Given the description of an element on the screen output the (x, y) to click on. 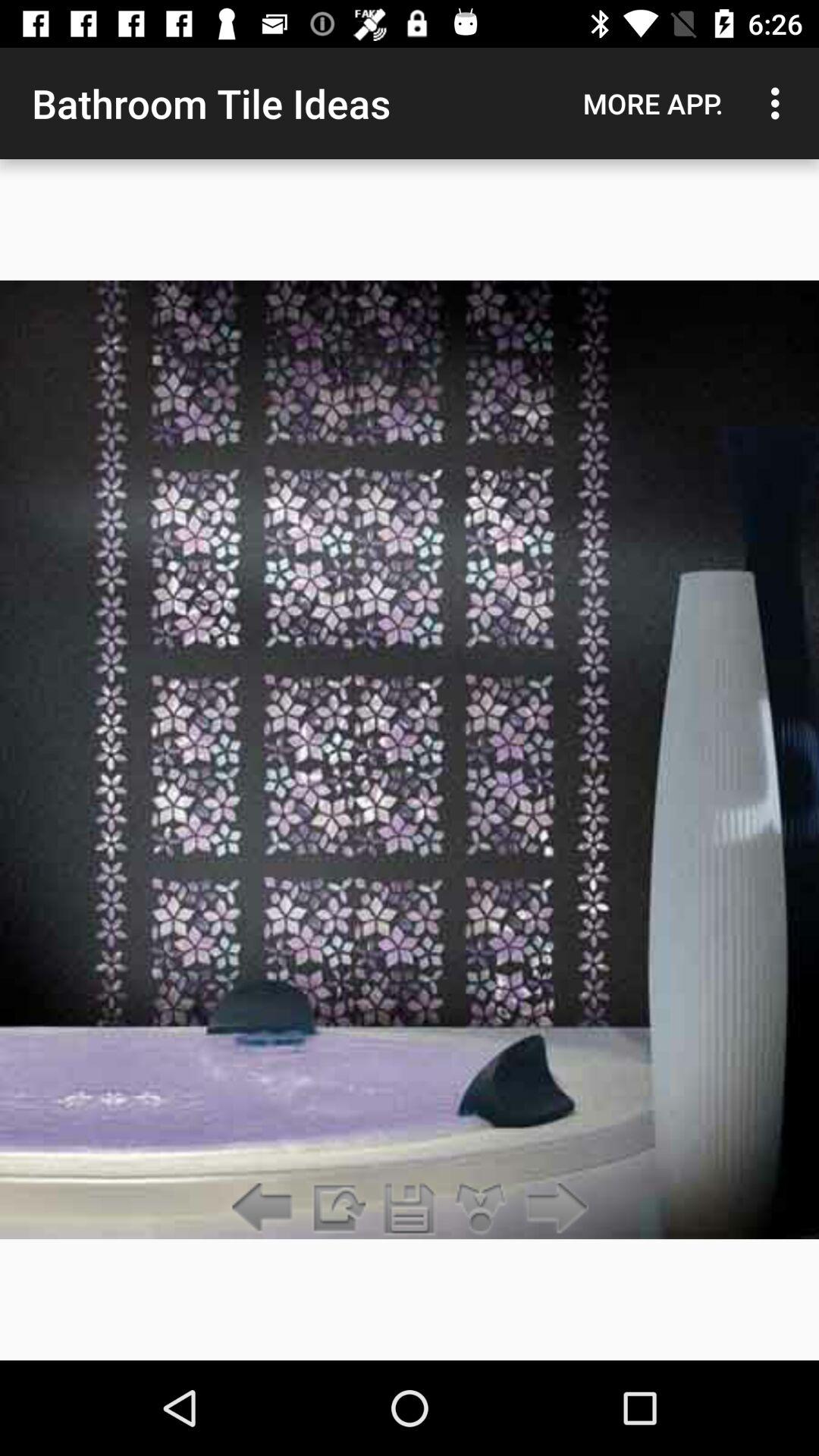
select item next to more app. icon (779, 103)
